Given the description of an element on the screen output the (x, y) to click on. 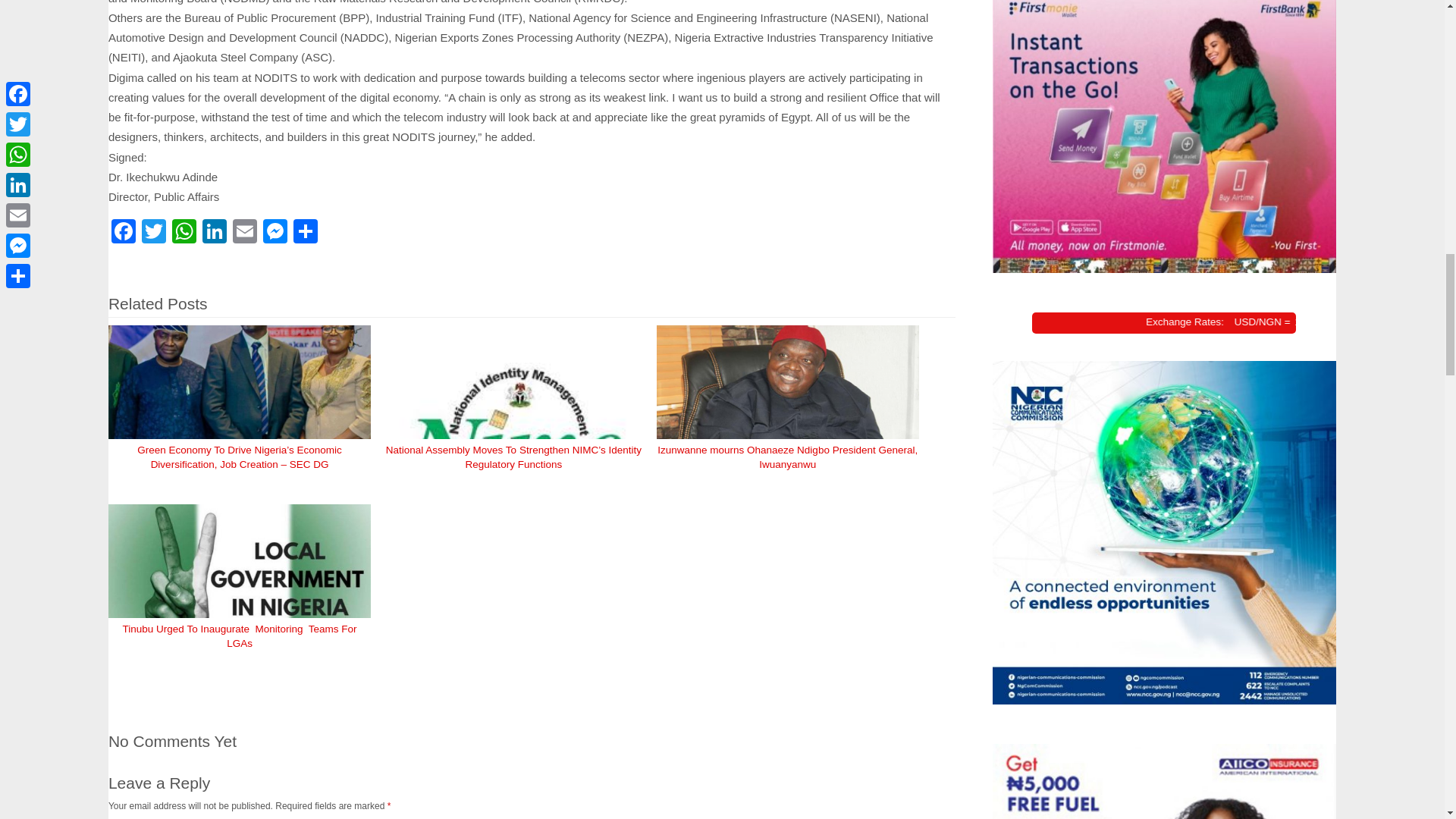
Twitter (153, 233)
WhatsApp (183, 233)
LinkedIn (214, 233)
Facebook (122, 233)
Messenger (274, 233)
Email (245, 233)
